Given the description of an element on the screen output the (x, y) to click on. 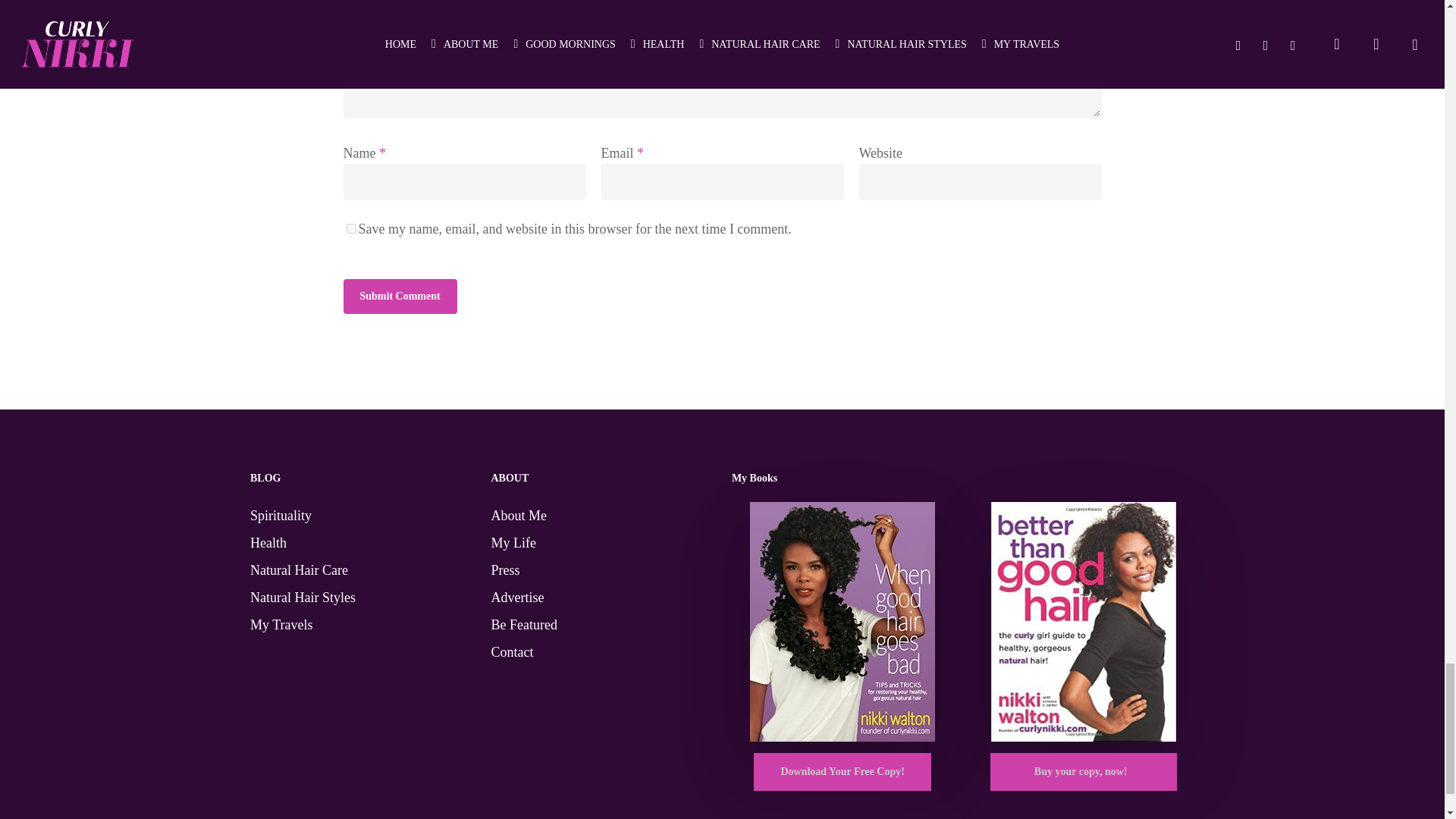
yes (350, 228)
Submit Comment (399, 296)
